Given the description of an element on the screen output the (x, y) to click on. 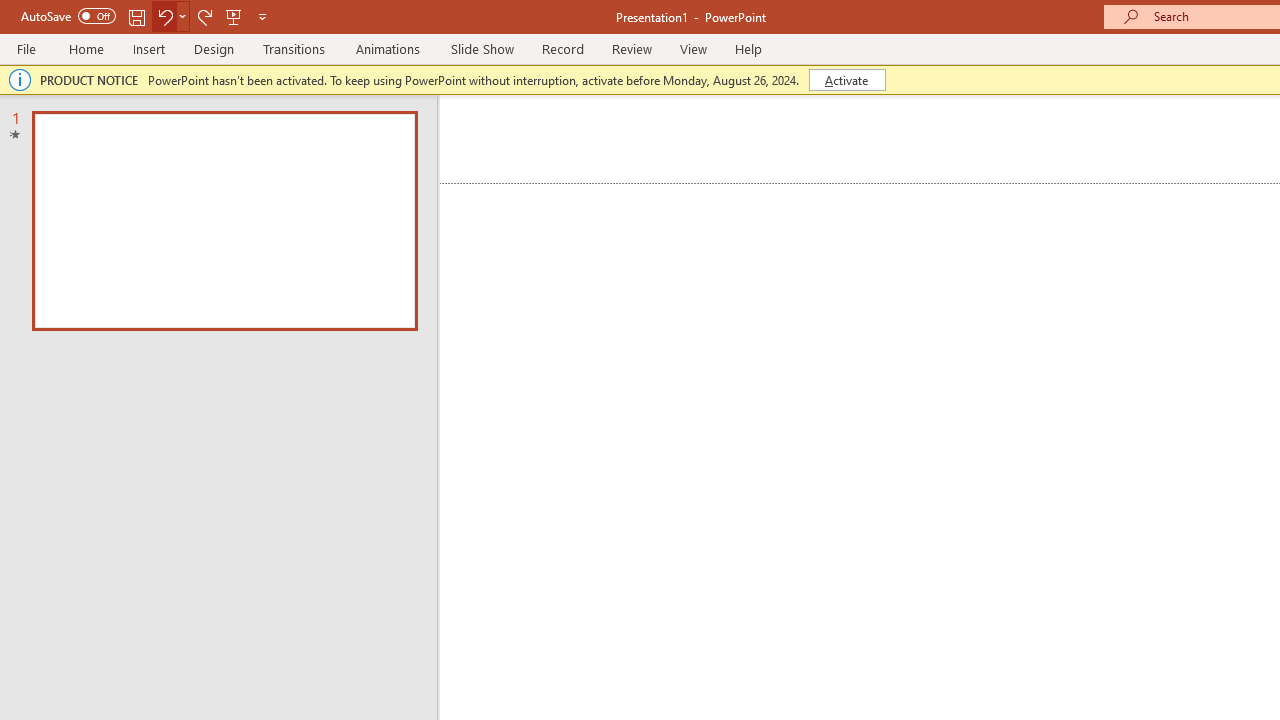
Activate (846, 79)
